Given the description of an element on the screen output the (x, y) to click on. 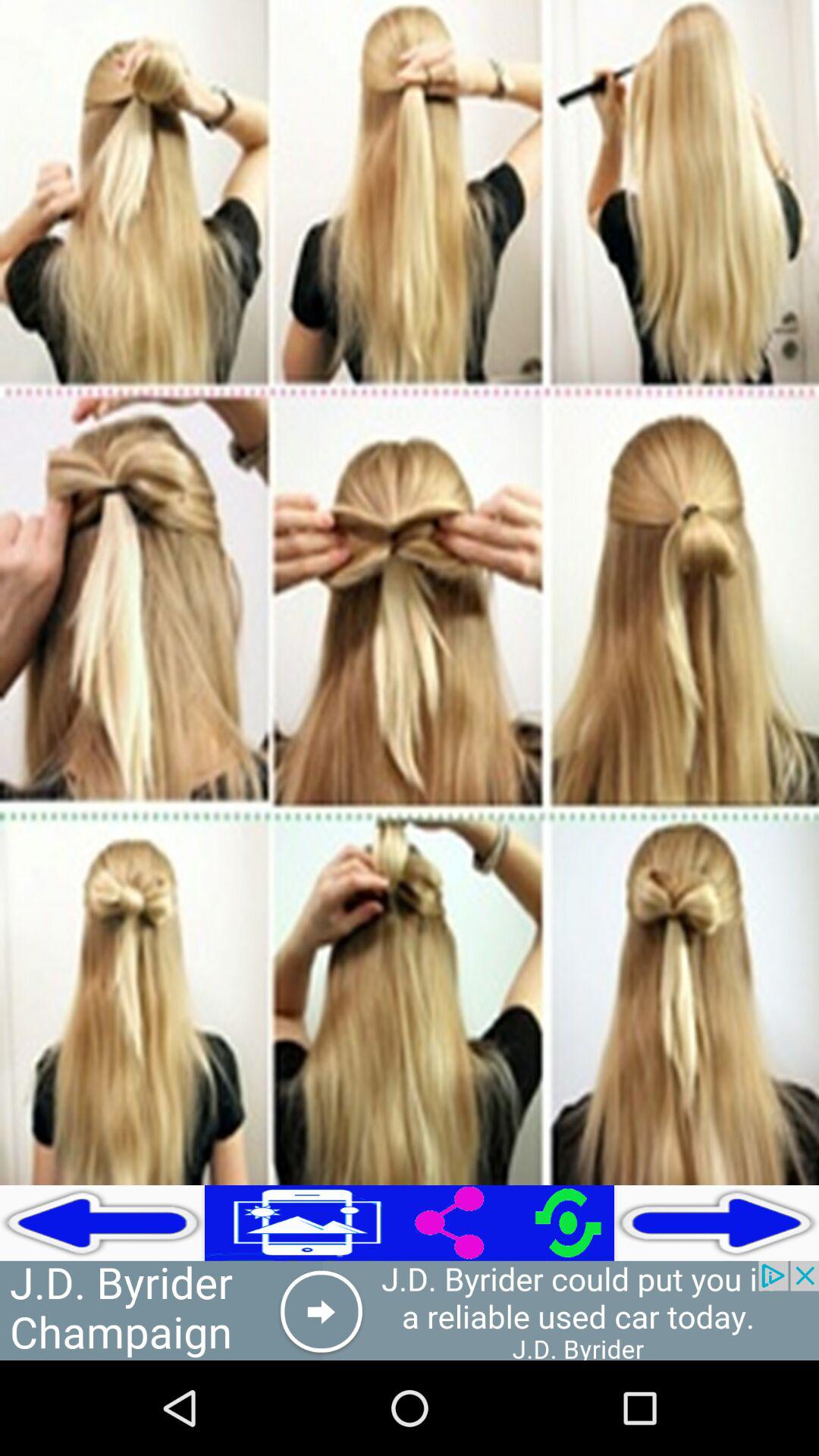
click advertisement (409, 1310)
